Given the description of an element on the screen output the (x, y) to click on. 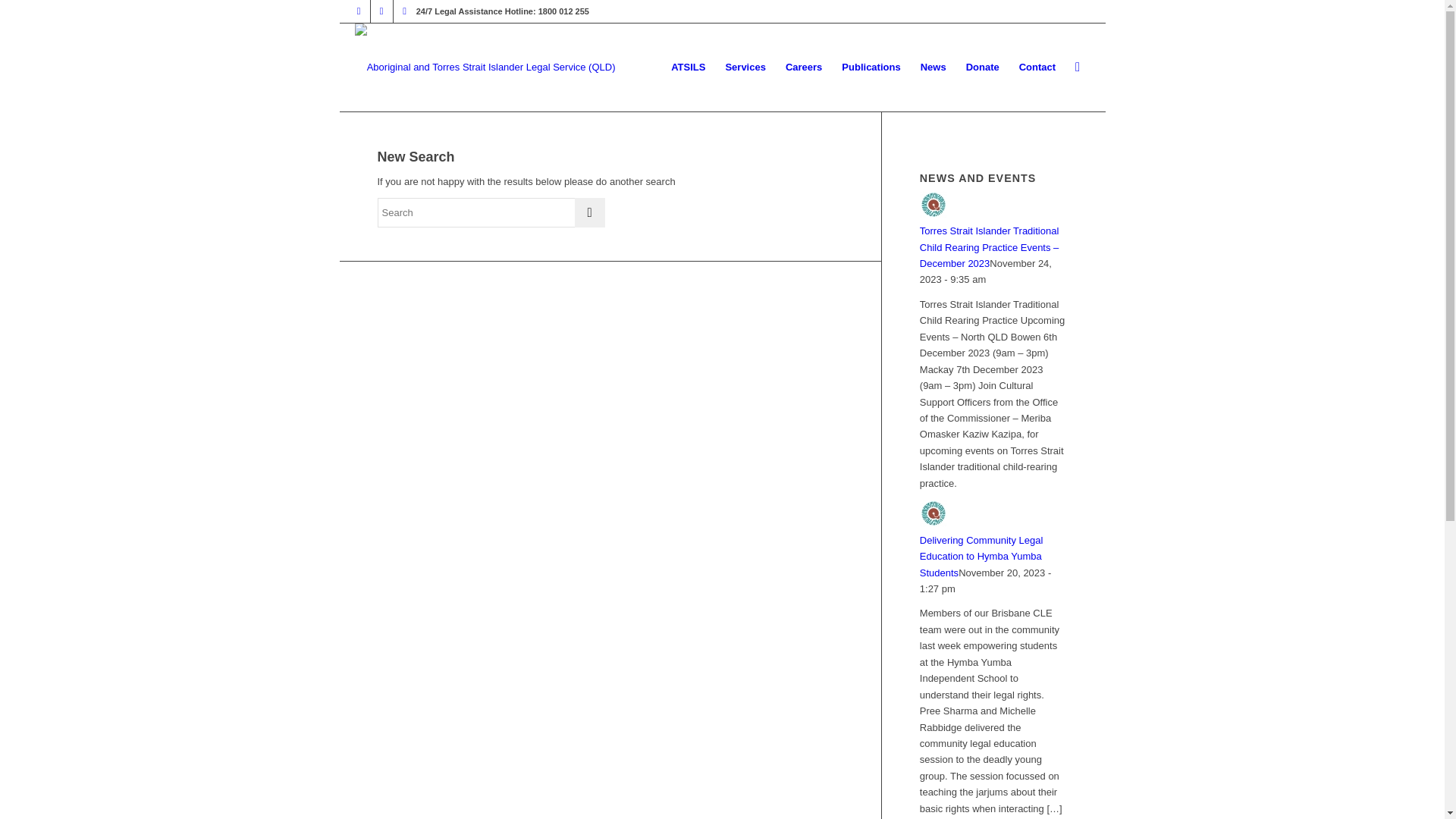
ATSILS Element type: text (688, 67)
Services Element type: text (745, 67)
Publications Element type: text (870, 67)
Contact Element type: text (1037, 67)
Delivering Community Legal Education to Hymba Yumba Students Element type: text (981, 556)
News Element type: text (933, 67)
Twitter Element type: hover (359, 11)
Facebook Element type: hover (381, 11)
Donate Element type: text (982, 67)
Careers Element type: text (803, 67)
LinkedIn Element type: hover (404, 11)
